Given the description of an element on the screen output the (x, y) to click on. 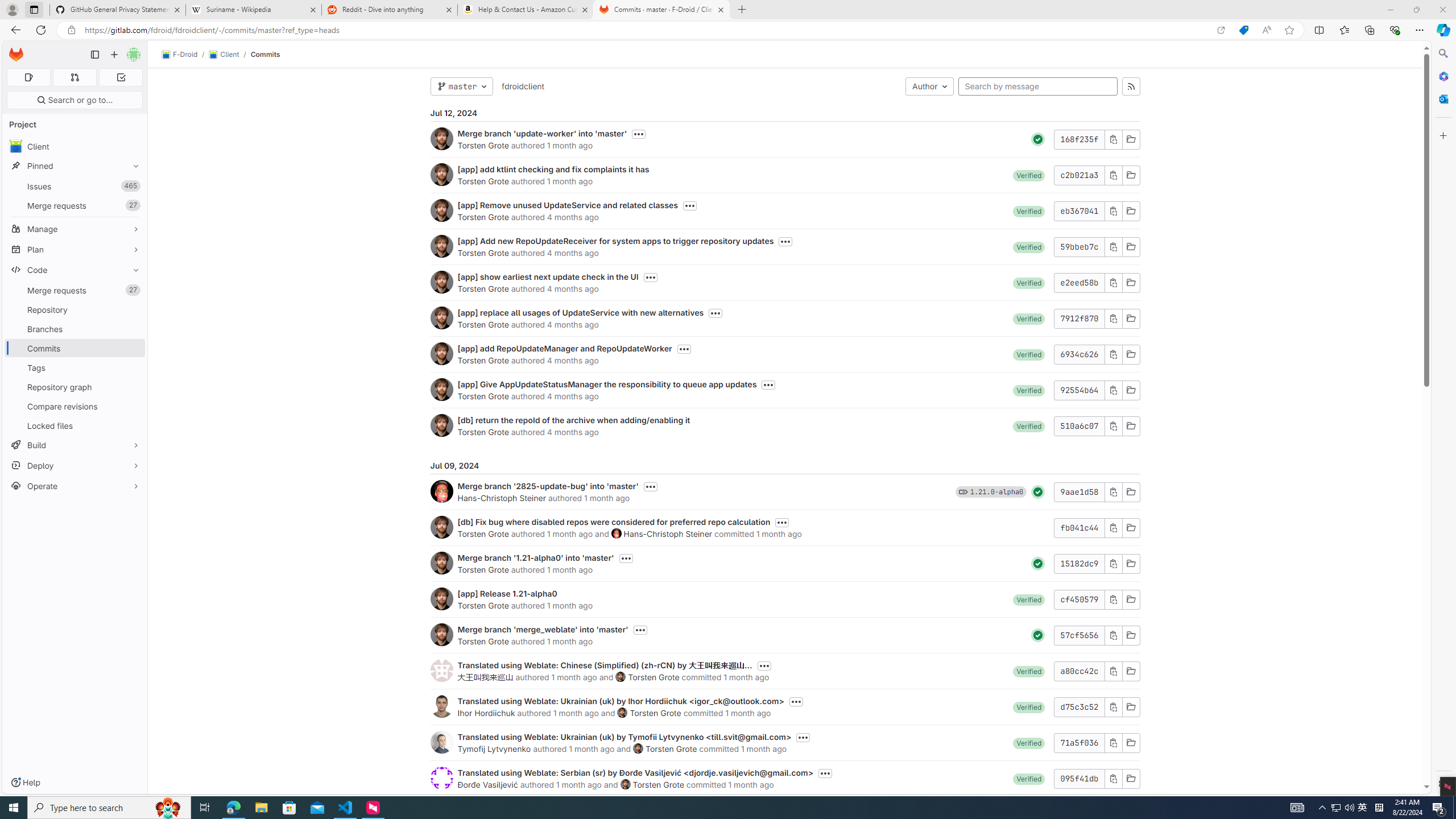
[app] show earliest next update check in the UI (548, 276)
Build (74, 444)
Skip to main content (13, 49)
avatar (15, 146)
Help & Contact Us - Amazon Customer Service (525, 9)
Class: s16 (1130, 777)
Type here to search (108, 807)
Split screen (1318, 29)
Merge requests27 (74, 289)
Assigned issues 0 (28, 76)
Merge branch 'update-worker' into 'master' (542, 133)
Settings (1442, 783)
Help (25, 782)
